Given the description of an element on the screen output the (x, y) to click on. 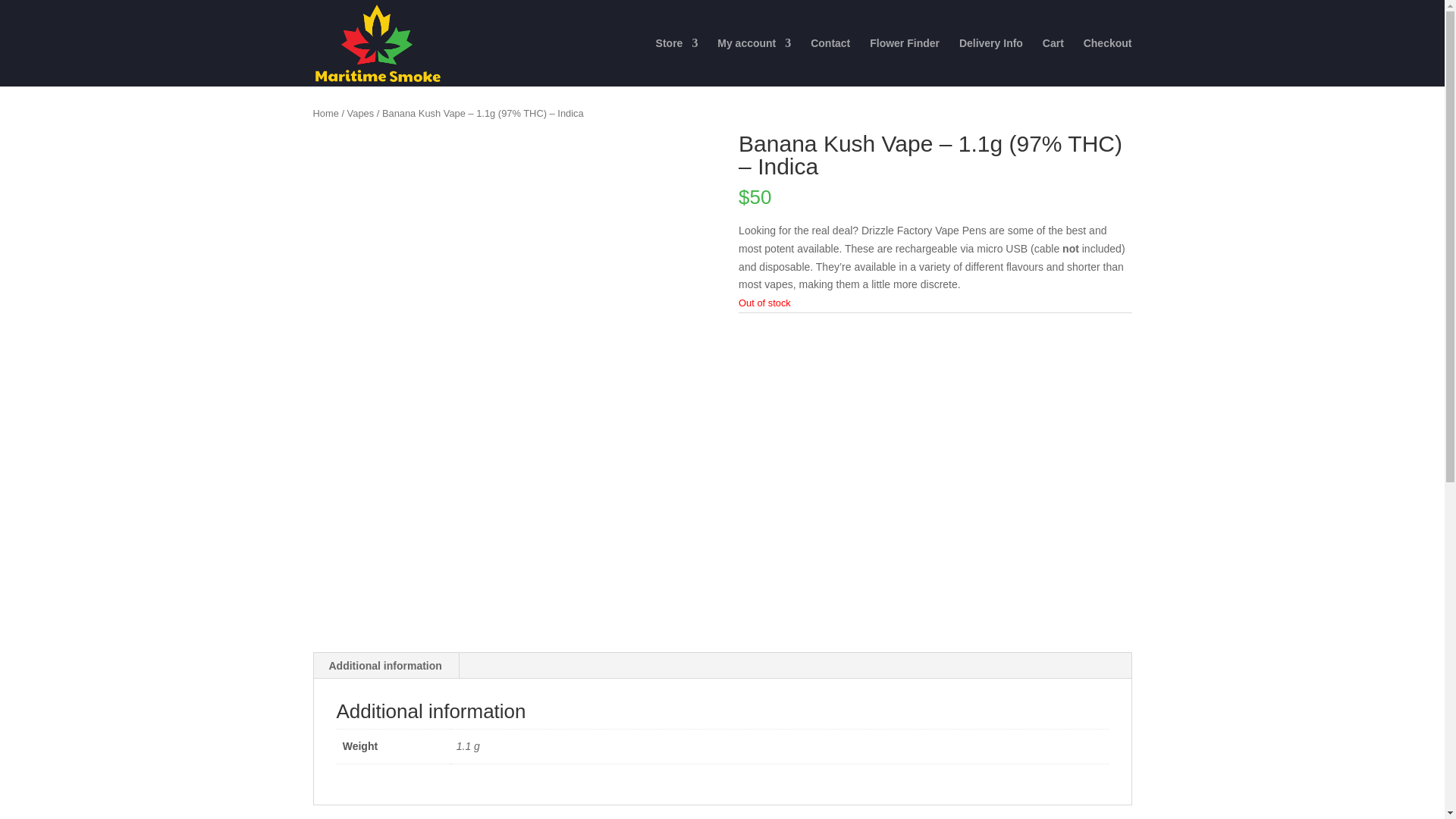
Additional information (385, 665)
Home (325, 112)
Delivery Info (991, 61)
Flower Finder (904, 61)
Checkout (1107, 61)
My account (753, 61)
Vapes (360, 112)
